Given the description of an element on the screen output the (x, y) to click on. 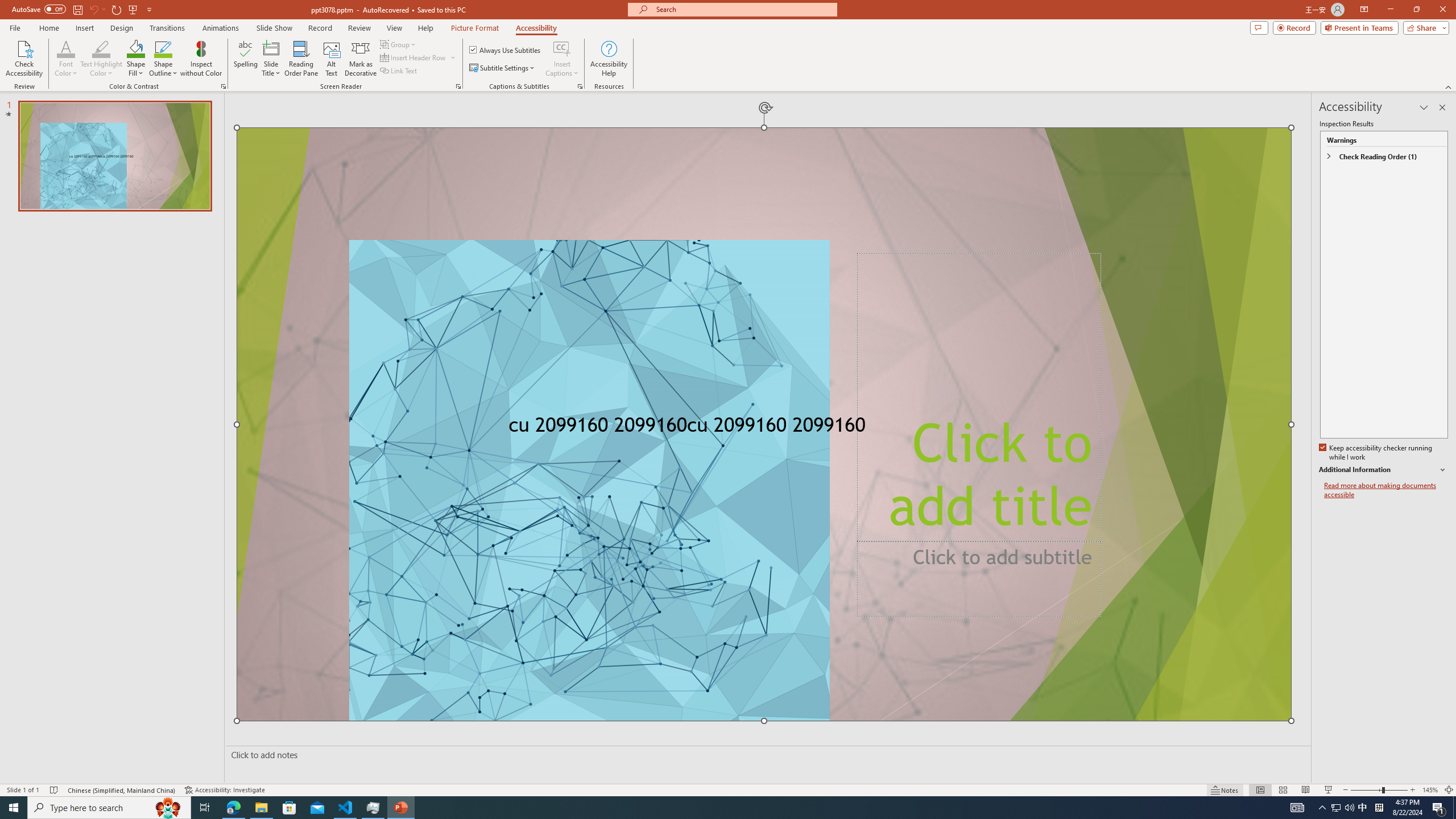
Picture Format (475, 28)
Zoom 145% (1430, 790)
Accessibility Help (608, 58)
